Given the description of an element on the screen output the (x, y) to click on. 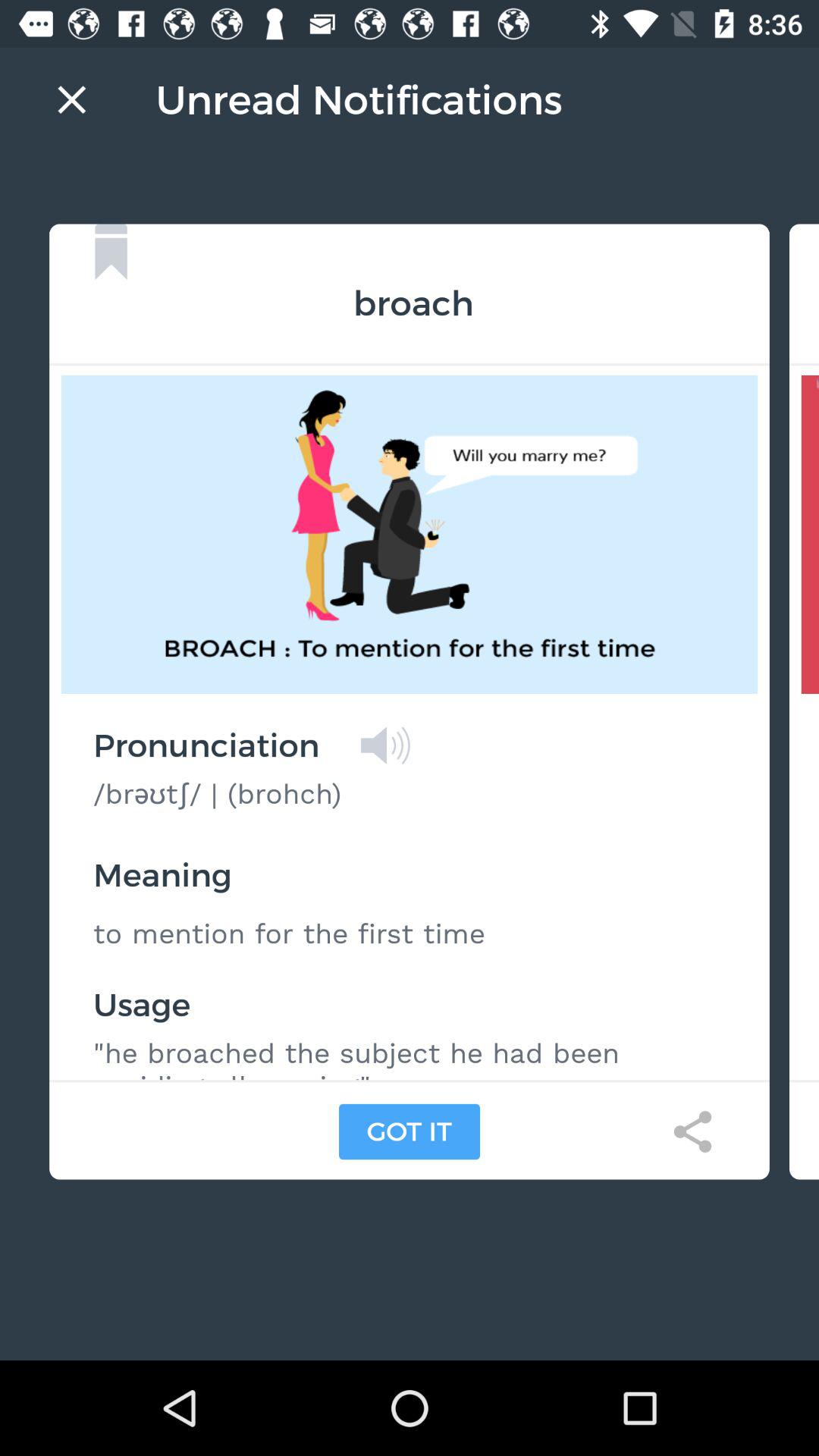
close (71, 99)
